Given the description of an element on the screen output the (x, y) to click on. 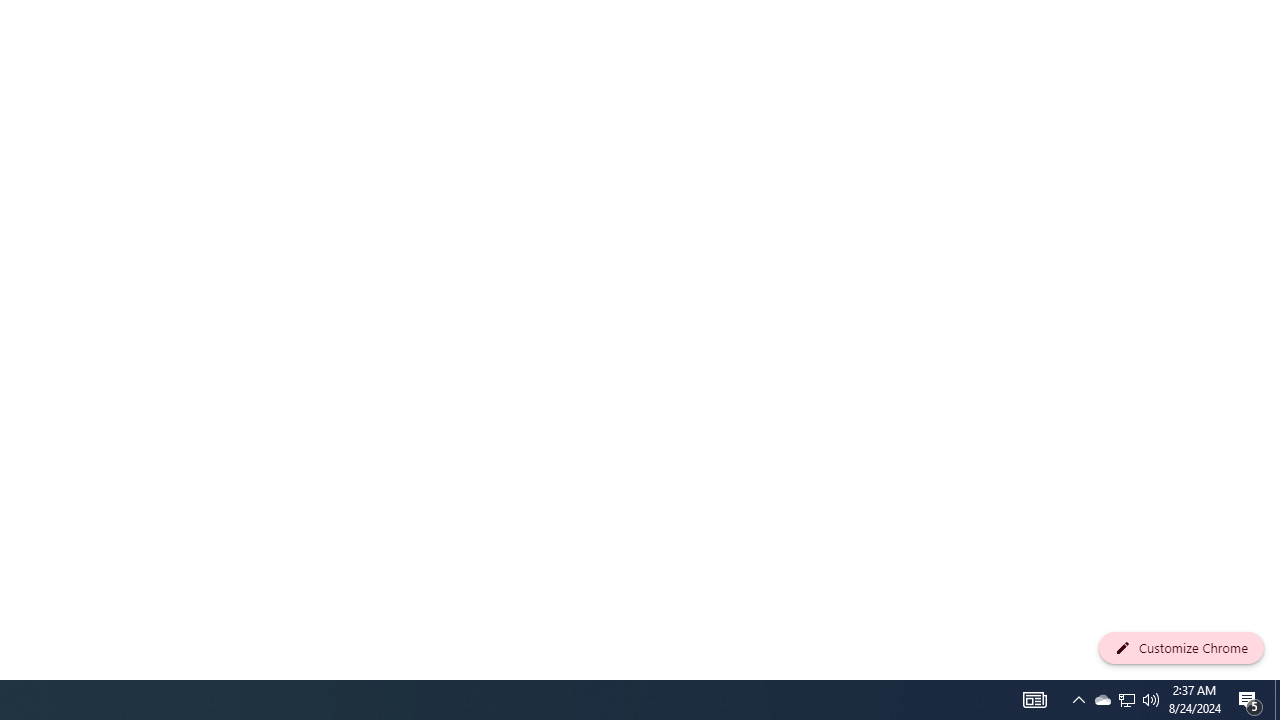
Customize Chrome (1181, 647)
